Given the description of an element on the screen output the (x, y) to click on. 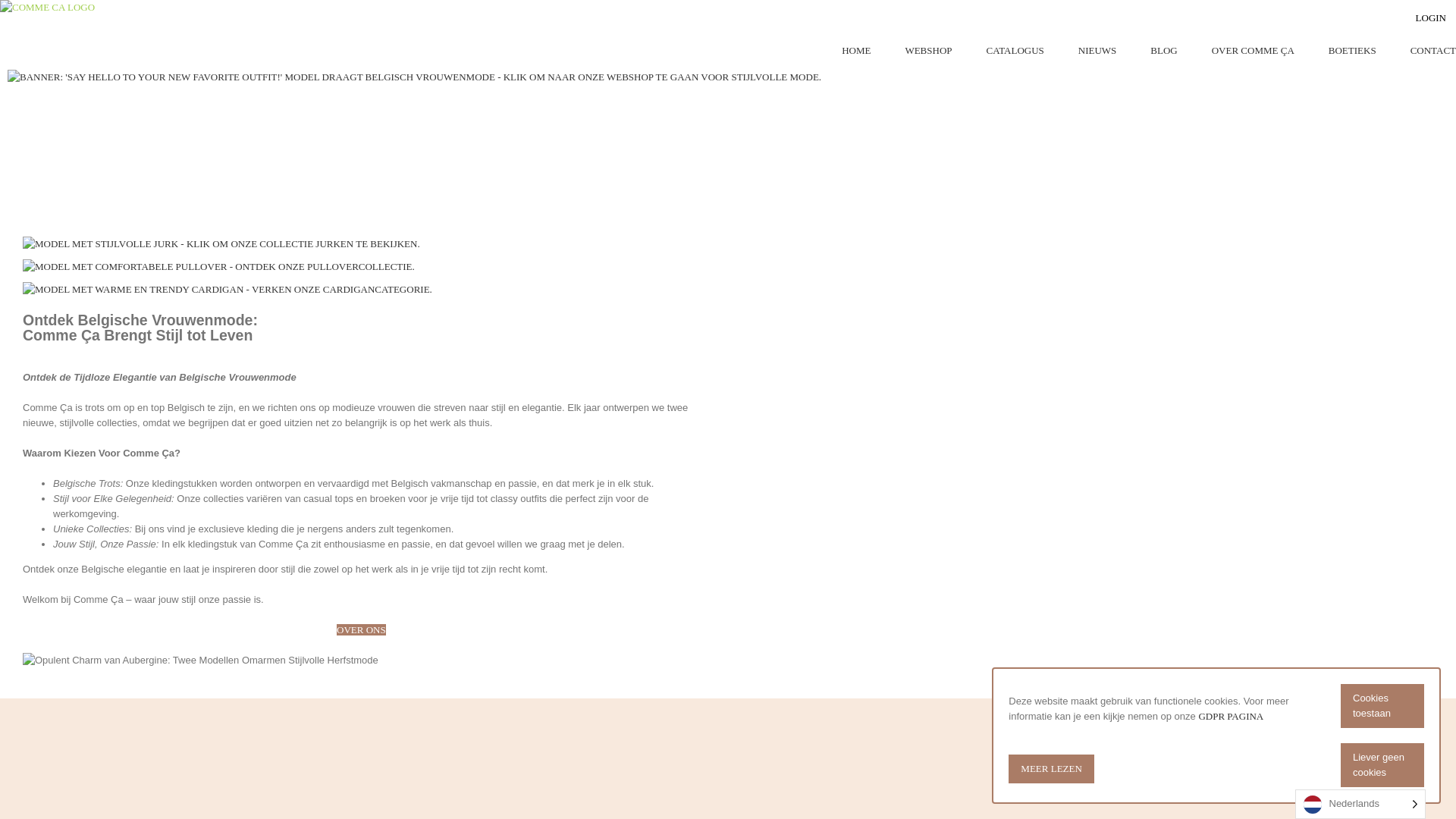
website visuals Element type: hover (200, 660)
GDPR PAGINA Element type: text (1230, 715)
OVER ONS Element type: text (360, 629)
BLOG Element type: text (1163, 50)
WEBSHOP Element type: text (927, 50)
HOME Element type: text (855, 50)
CATALOGUS Element type: text (1015, 50)
NIEUWS Element type: text (1097, 50)
BOETIEKS Element type: text (1352, 50)
MEER LEZEN Element type: text (1051, 768)
